Given the description of an element on the screen output the (x, y) to click on. 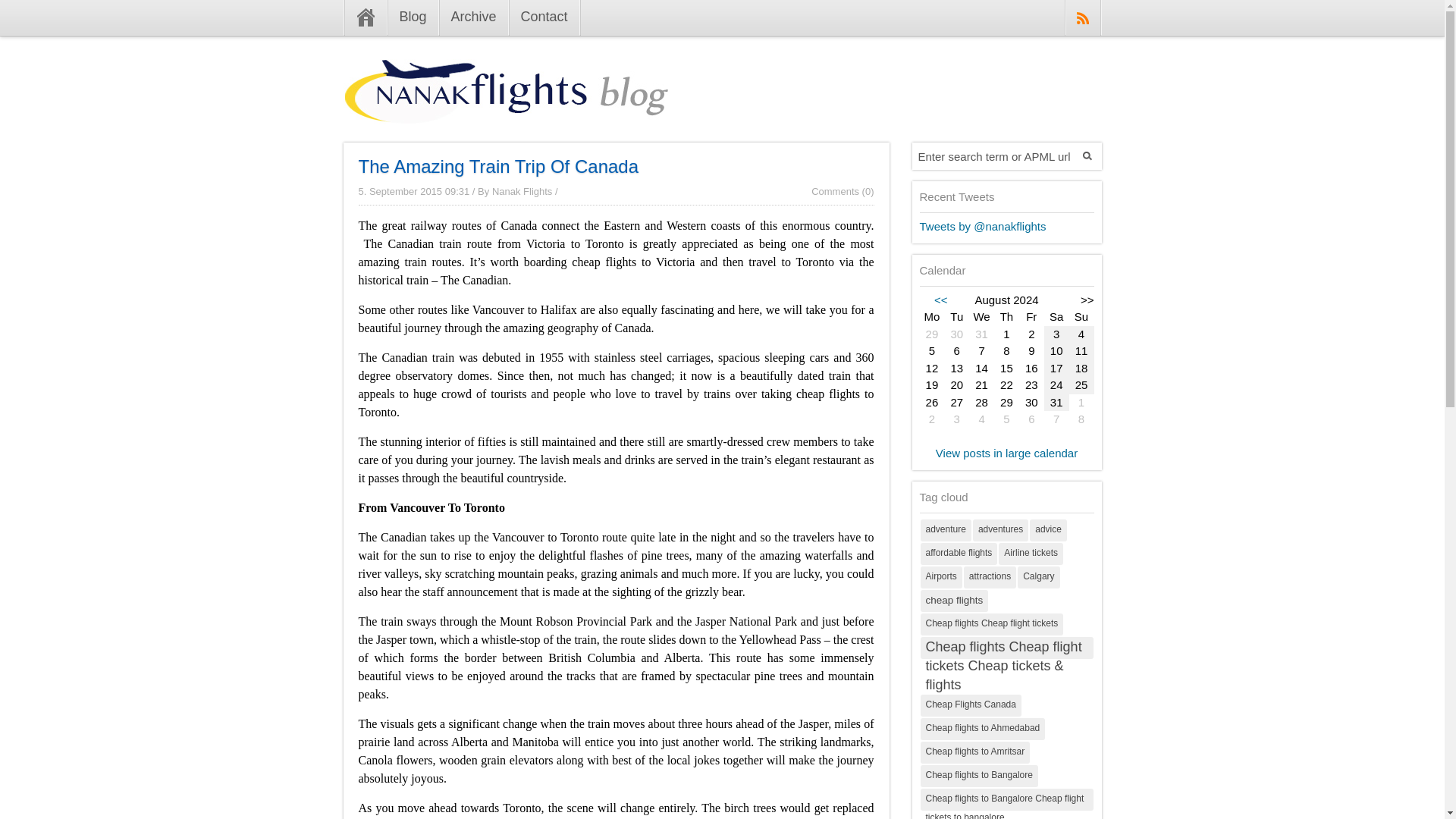
Nanak Flights Blog (505, 111)
Tag: adventures (999, 529)
Tag: attractions (989, 576)
adventures (999, 529)
Cheap flights to Bangalore Cheap flight tickets to bangalore (1006, 799)
Calendar (1005, 368)
Tag: advice (1048, 529)
affordable flights (958, 553)
advice (1048, 529)
Tag: Airports (941, 576)
Airline tickets (1030, 553)
Cheap flights to Ahmedabad (982, 729)
Tag: Airline tickets (1030, 553)
Calgary (1038, 576)
View posts in large calendar (1006, 452)
